Given the description of an element on the screen output the (x, y) to click on. 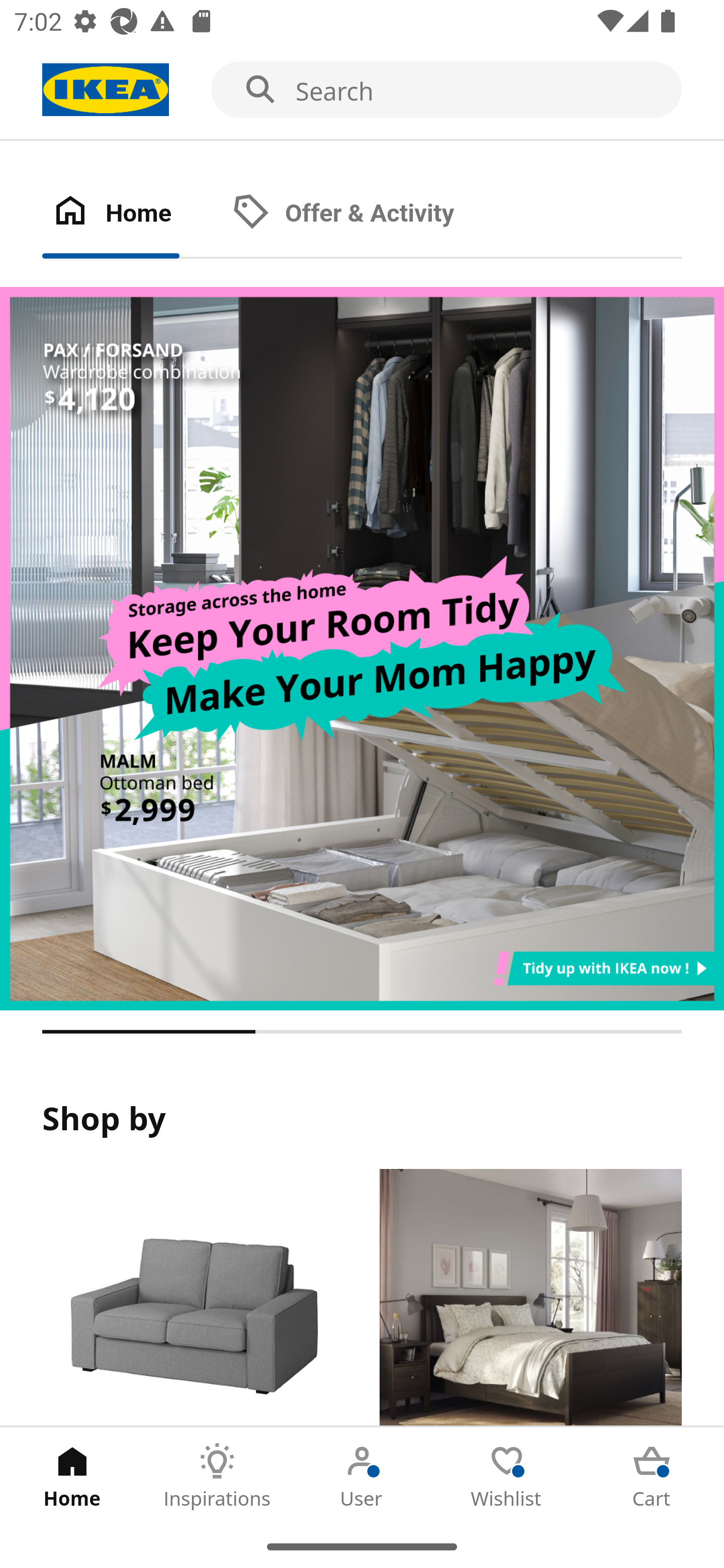
Search (361, 90)
Home
Tab 1 of 2 (131, 213)
Offer & Activity
Tab 2 of 2 (363, 213)
Products (192, 1297)
Rooms (530, 1297)
Home
Tab 1 of 5 (72, 1476)
Inspirations
Tab 2 of 5 (216, 1476)
User
Tab 3 of 5 (361, 1476)
Wishlist
Tab 4 of 5 (506, 1476)
Cart
Tab 5 of 5 (651, 1476)
